Given the description of an element on the screen output the (x, y) to click on. 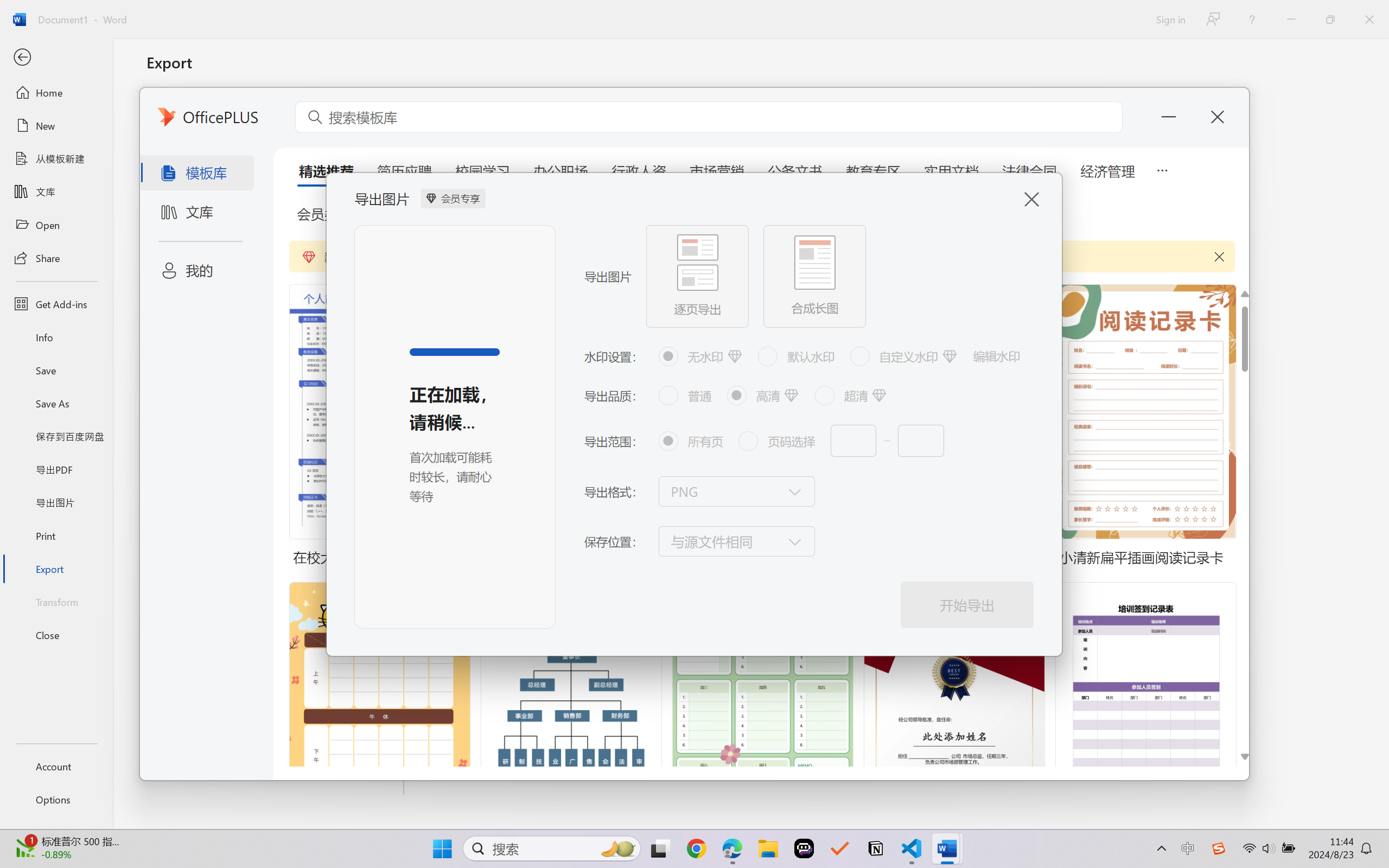
5 more tabs (1161, 169)
Sign in (1170, 18)
Create PDF/XPS Document (275, 110)
Options (56, 798)
